Given the description of an element on the screen output the (x, y) to click on. 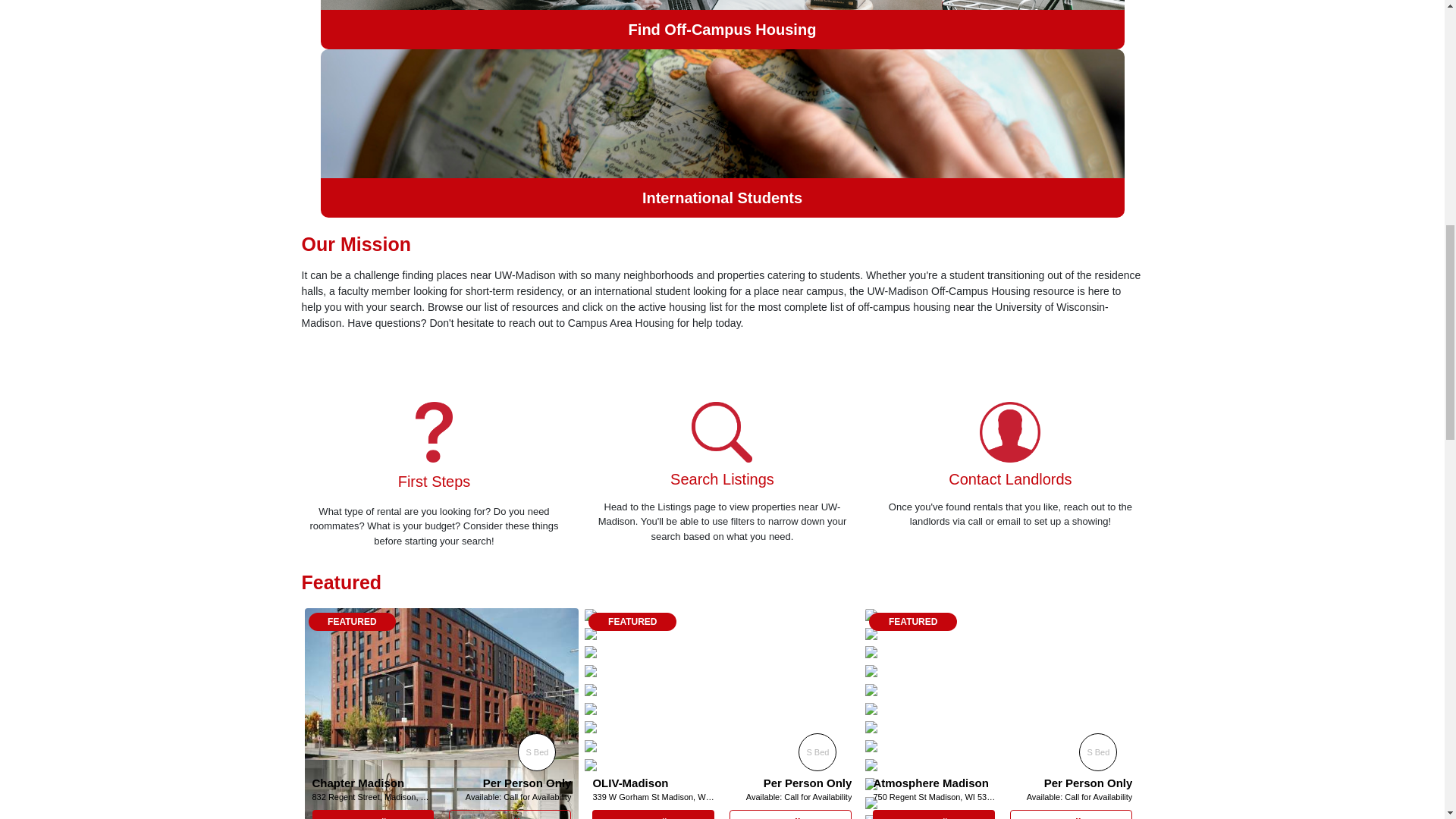
S Bed (537, 752)
Call (790, 814)
OLIV-Madison (630, 782)
Email (933, 814)
Find Off-Campus Housing (722, 24)
S Bed (816, 752)
Atmosphere Madison (930, 782)
Email (653, 814)
Chapter Madison (358, 782)
